Given the description of an element on the screen output the (x, y) to click on. 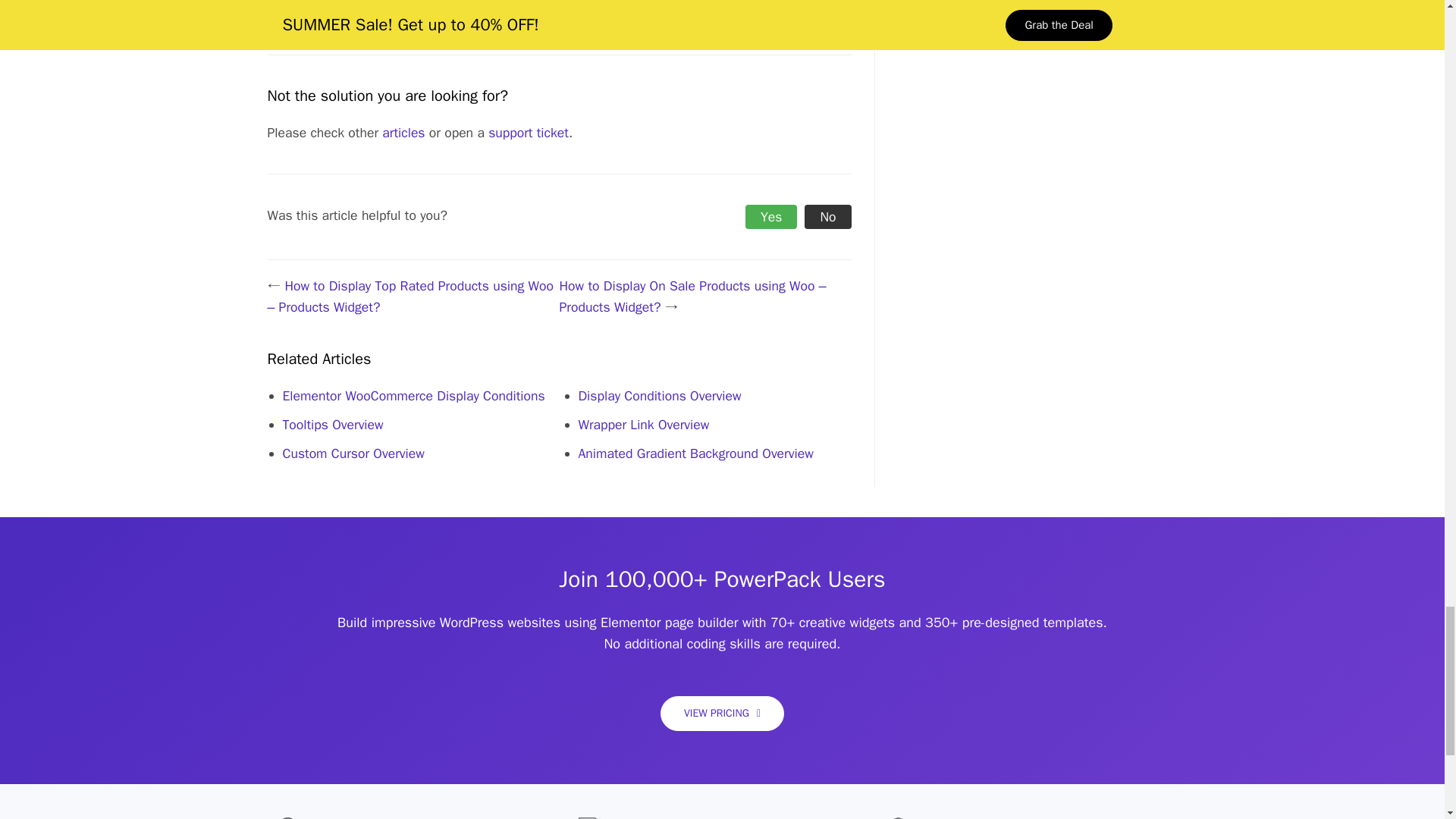
No votes yet (827, 216)
No votes yet (770, 216)
